Given the description of an element on the screen output the (x, y) to click on. 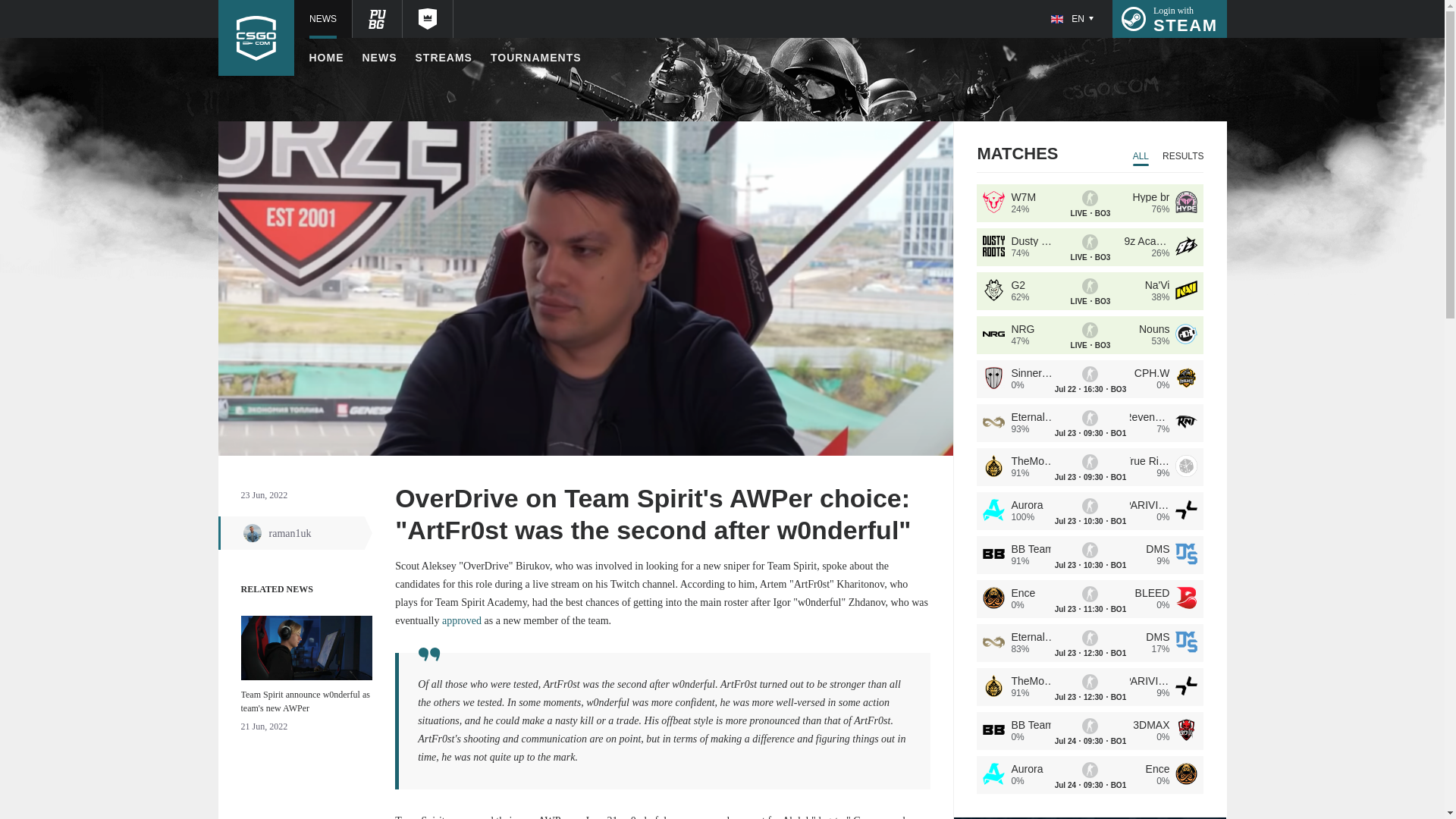
approved (1169, 18)
TOURNAMENTS (461, 620)
HOME (535, 57)
NEWS (325, 57)
STREAMS (379, 57)
raman1uk (442, 57)
